Given the description of an element on the screen output the (x, y) to click on. 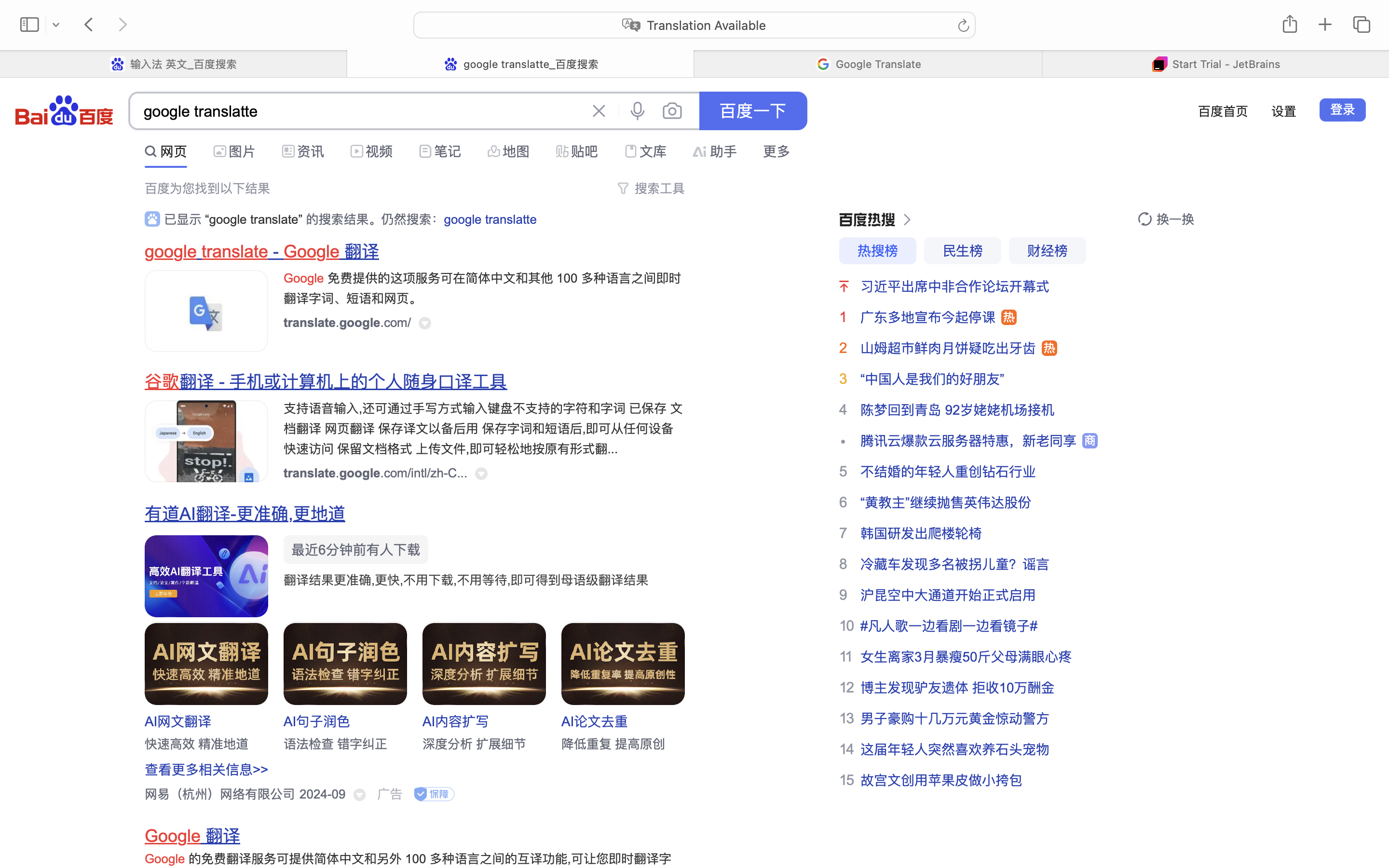
“google translate” Element type: AXStaticText (253, 219)
女生离家3月暴瘦50斤父母满眼心疼 Element type: AXStaticText (966, 656)
True Element type: AXRadioButton (520, 63)
 Element type: AXStaticText (622, 187)
男子豪购十几万元黄金惊动警方 Element type: AXStaticText (954, 718)
